Given the description of an element on the screen output the (x, y) to click on. 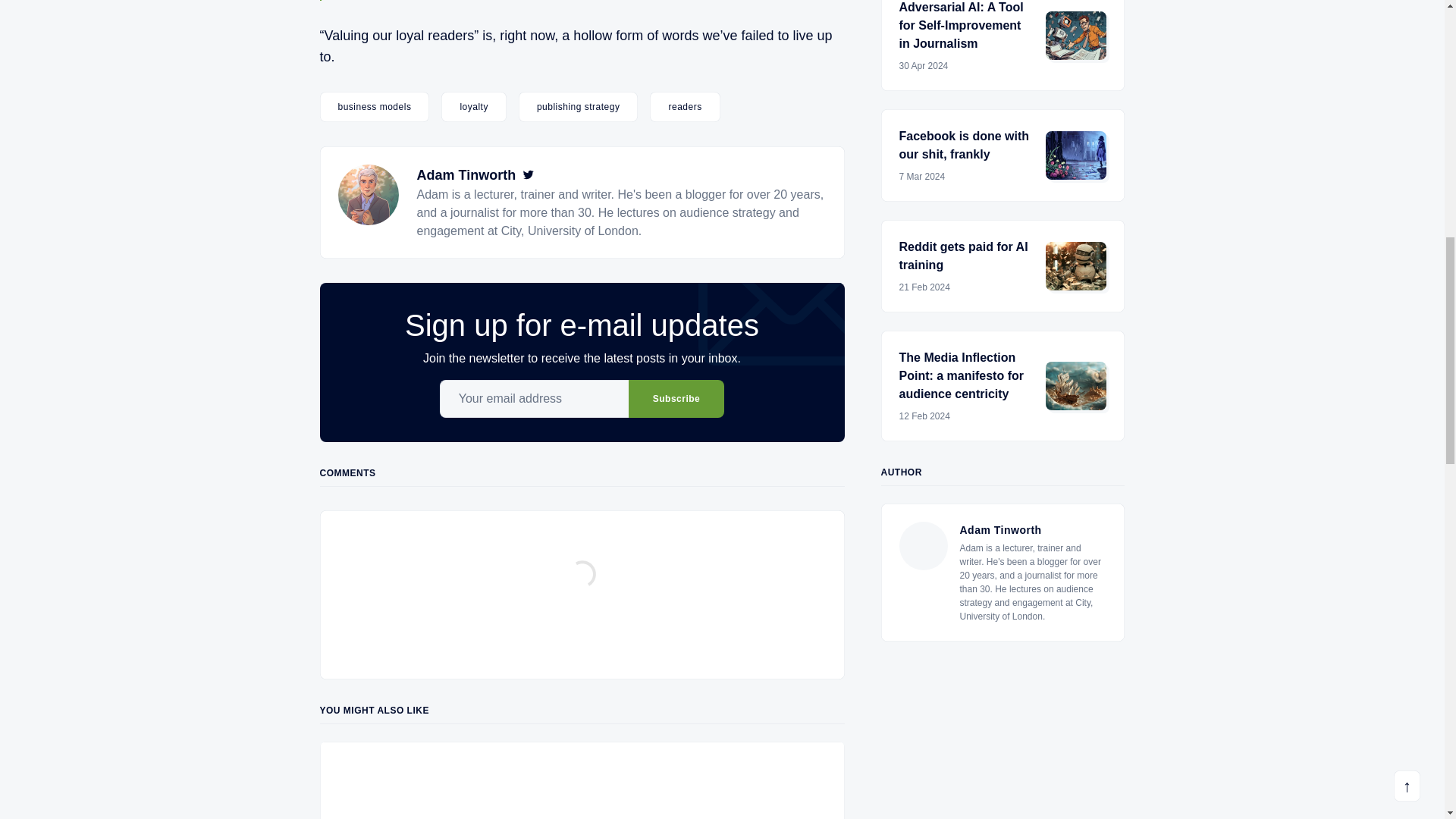
Subscribe (676, 398)
publishing strategy (578, 106)
Adam Tinworth (466, 174)
Twitter (528, 174)
comments-frame (582, 592)
loyalty (473, 106)
business models (374, 106)
readers (684, 106)
